Given the description of an element on the screen output the (x, y) to click on. 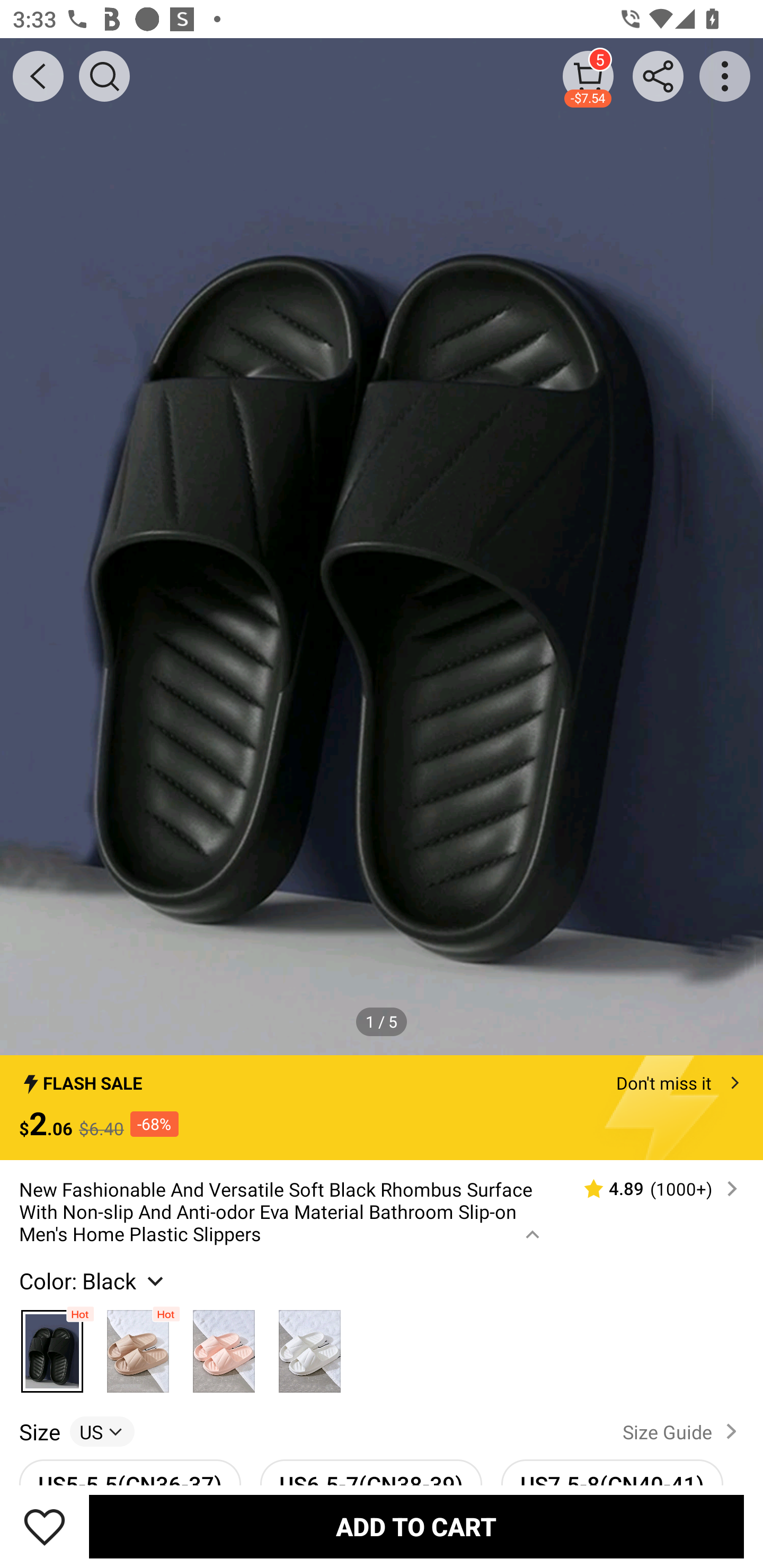
BACK (38, 75)
5 -$7.54 (588, 75)
1 / 5 (381, 1021)
FLASH SALE Don't miss it $2.06 $6.40 -68% (381, 1107)
FLASH SALE Don't miss it (381, 1077)
4.89 (1000‎+) (653, 1188)
Color: Black (93, 1280)
Black (52, 1346)
Brown (138, 1346)
Pink (224, 1346)
White (309, 1346)
Size (39, 1431)
US (102, 1431)
Size Guide (682, 1431)
ADD TO CART (416, 1526)
Save (44, 1526)
